Given the description of an element on the screen output the (x, y) to click on. 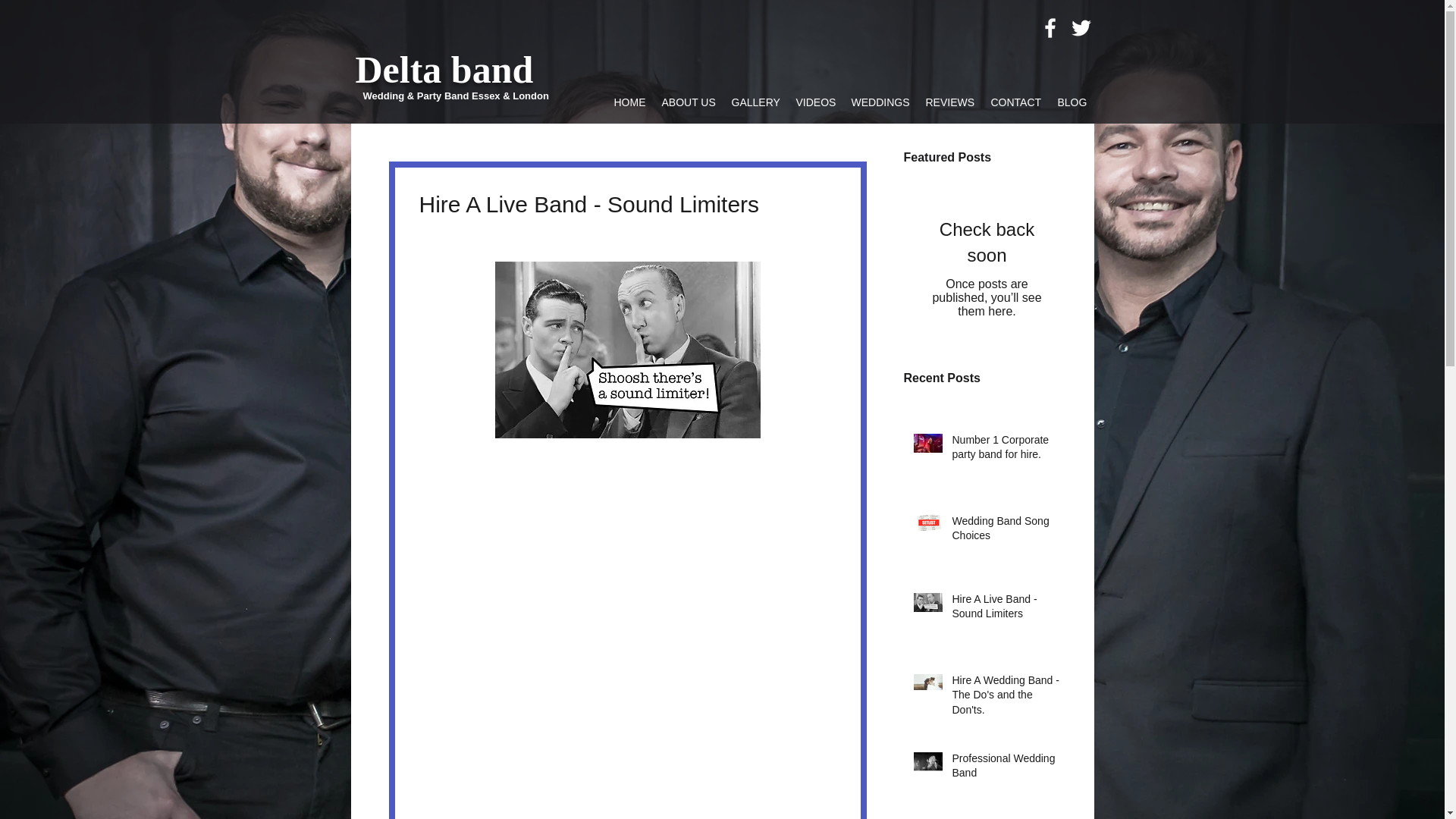
VIDEOS (815, 102)
Wedding Band Song Choices (1006, 531)
Number 1 Corporate party band for hire. (1006, 450)
REVIEWS (949, 102)
CONTACT (1015, 102)
Hire A Wedding Band - The Do's and the Don'ts. (1006, 698)
BLOG (1071, 102)
Professional Wedding Band (1006, 769)
ABOUT US (688, 102)
Delta band (443, 69)
GALLERY (755, 102)
WEDDINGS (880, 102)
Hire A Live Band - Sound Limiters (1006, 610)
HOME (628, 102)
